Given the description of an element on the screen output the (x, y) to click on. 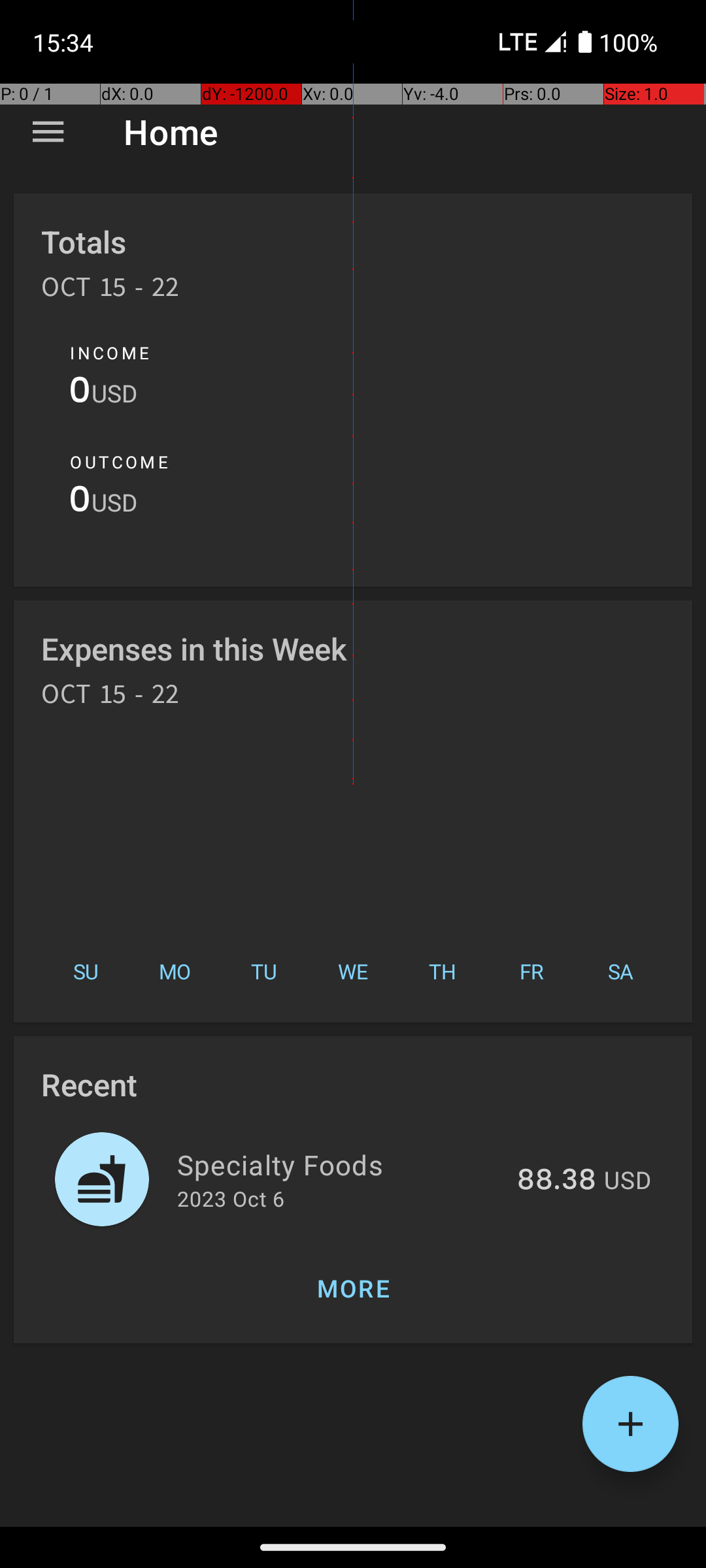
88.38 Element type: android.widget.TextView (556, 1180)
